Given the description of an element on the screen output the (x, y) to click on. 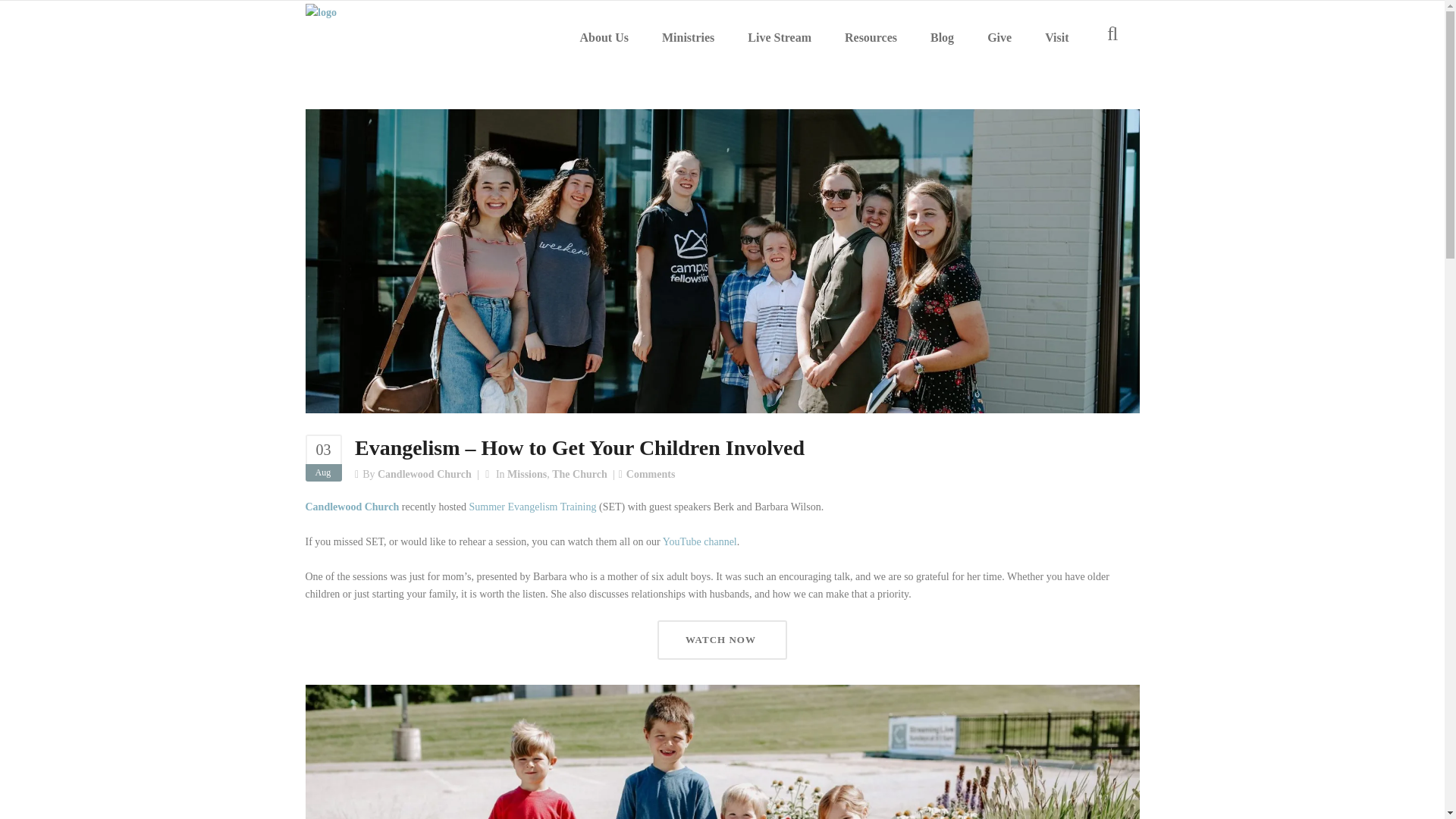
About Us (603, 38)
Resources (870, 38)
Live Stream (779, 38)
Ministries (687, 38)
